Given the description of an element on the screen output the (x, y) to click on. 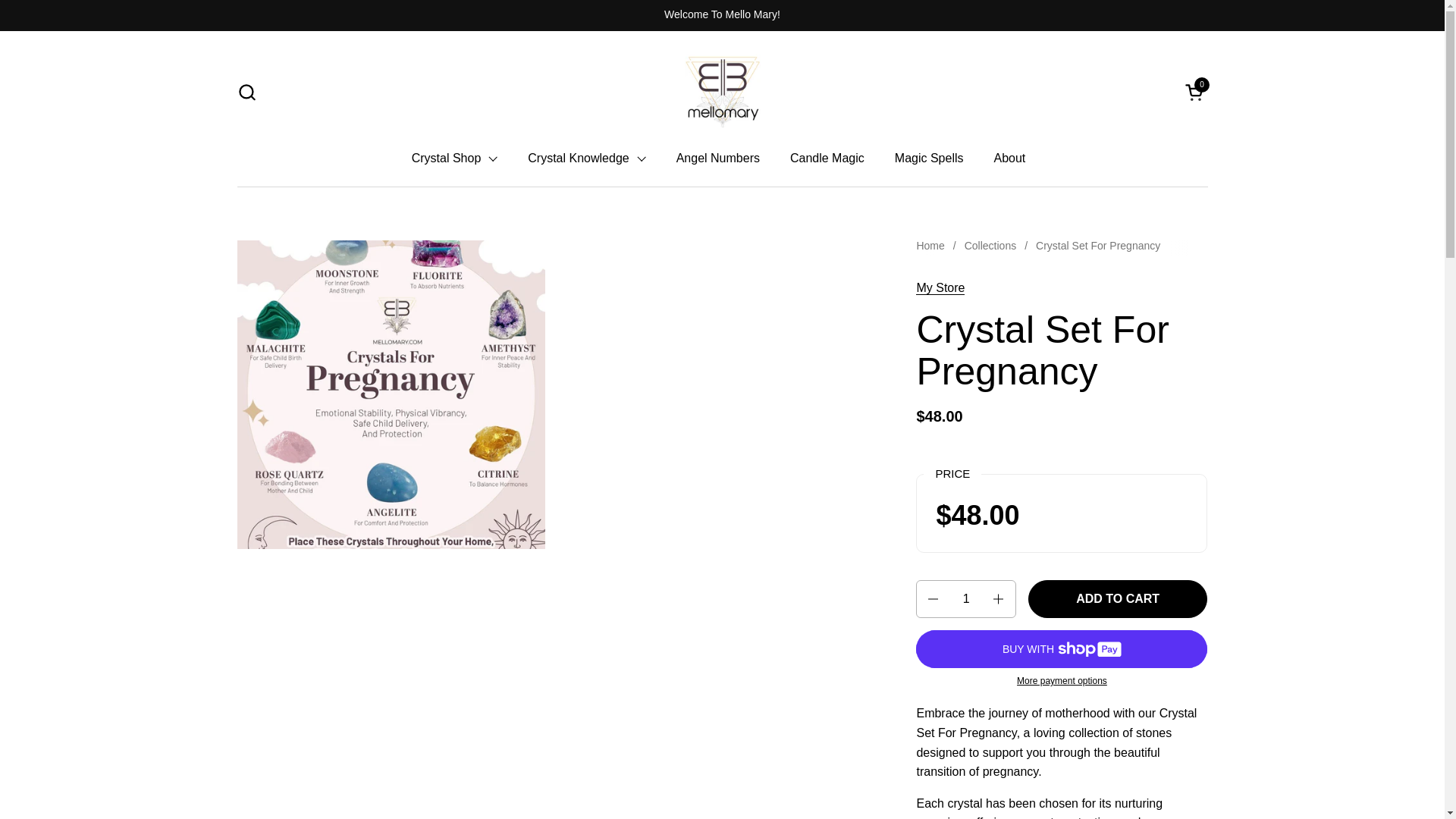
Open search (245, 90)
My Store (939, 287)
Candle Magic (826, 158)
Open cart (1196, 90)
Skip to content (1196, 90)
Magic Spells (1009, 158)
Crystal Knowledge (928, 158)
Crystal Shop (586, 158)
MelloMary (454, 158)
Angel Numbers (722, 91)
